Given the description of an element on the screen output the (x, y) to click on. 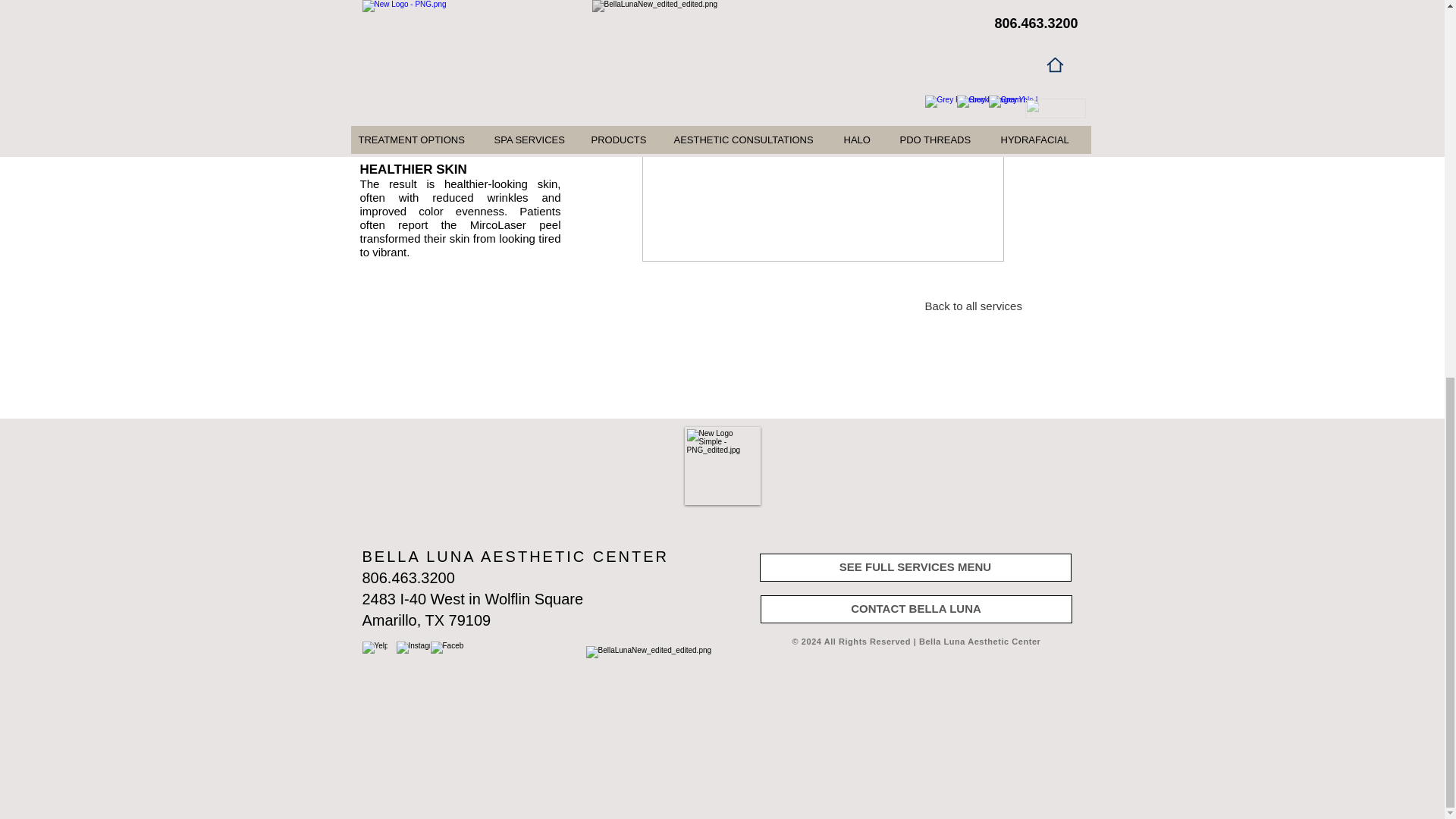
Back to all services (978, 306)
CONTACT BELLA LUNA (915, 609)
SEE FULL SERVICES MENU (915, 567)
